Given the description of an element on the screen output the (x, y) to click on. 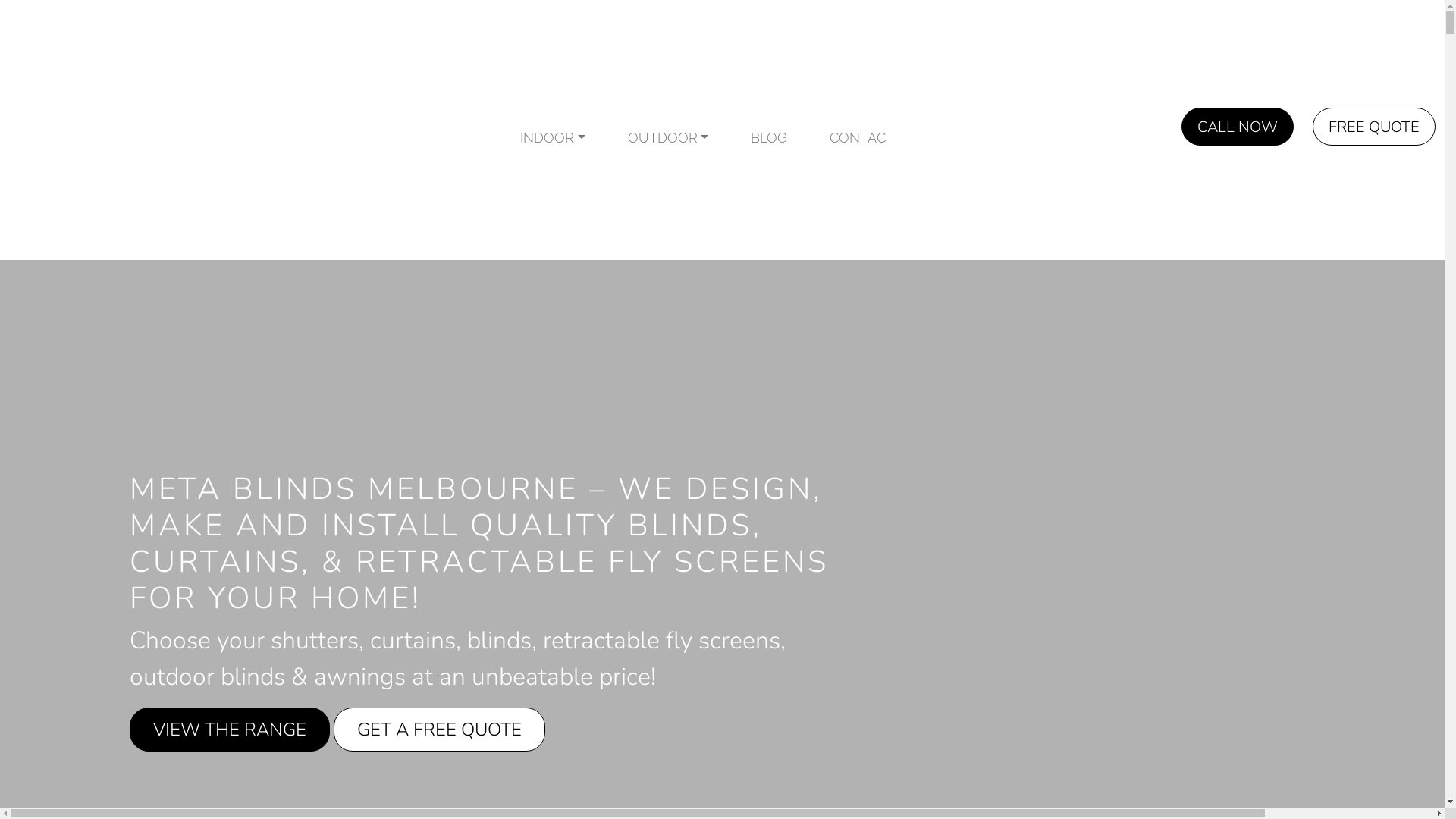
INDOOR Element type: text (552, 137)
FREE QUOTE Element type: text (1373, 126)
OUTDOOR Element type: text (668, 137)
BLOG Element type: text (768, 137)
GET A FREE QUOTE Element type: text (439, 728)
CONTACT Element type: text (861, 137)
VIEW THE RANGE Element type: text (229, 728)
CALL NOW Element type: text (1237, 126)
